Given the description of an element on the screen output the (x, y) to click on. 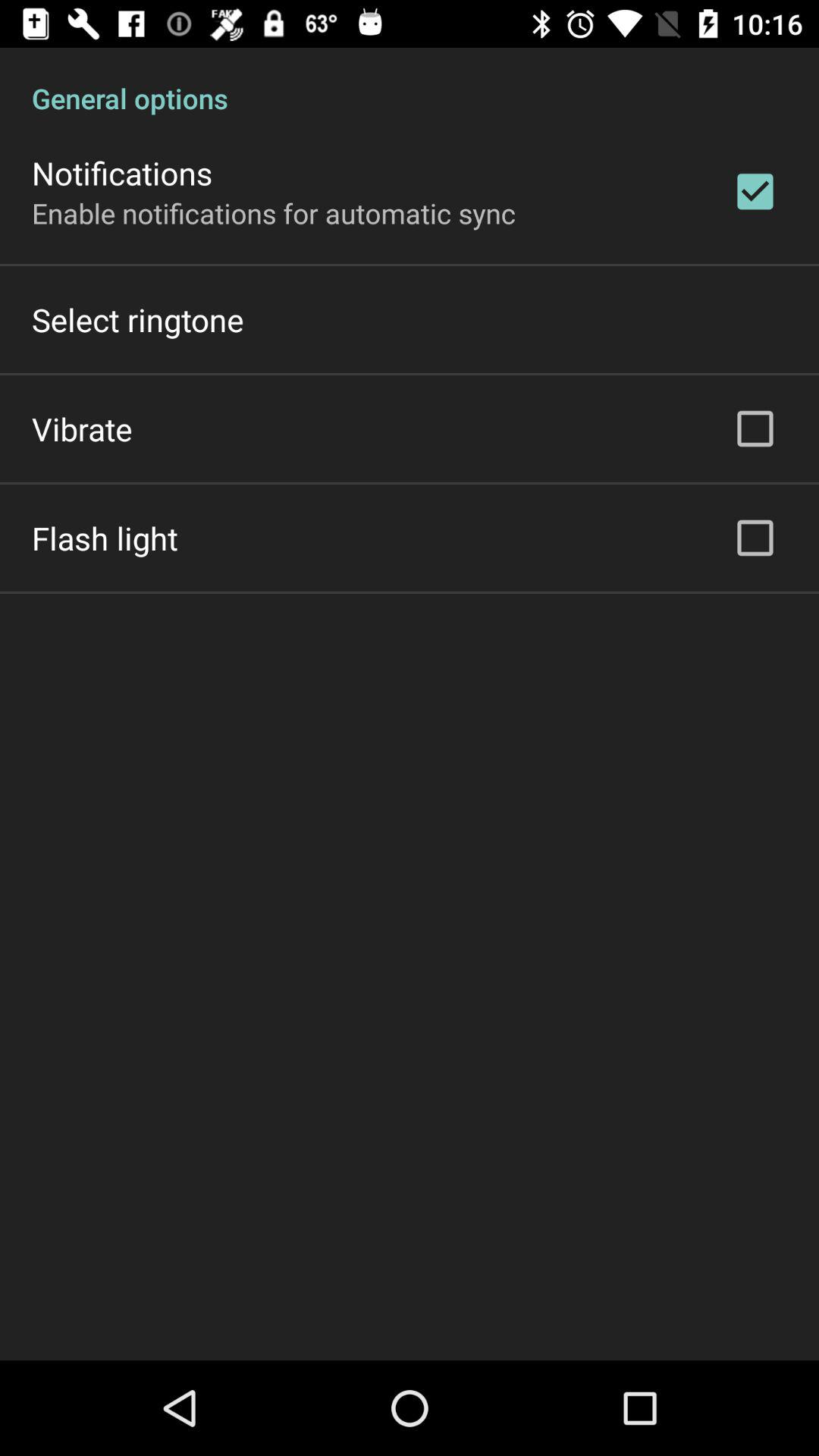
jump to select ringtone icon (137, 319)
